Given the description of an element on the screen output the (x, y) to click on. 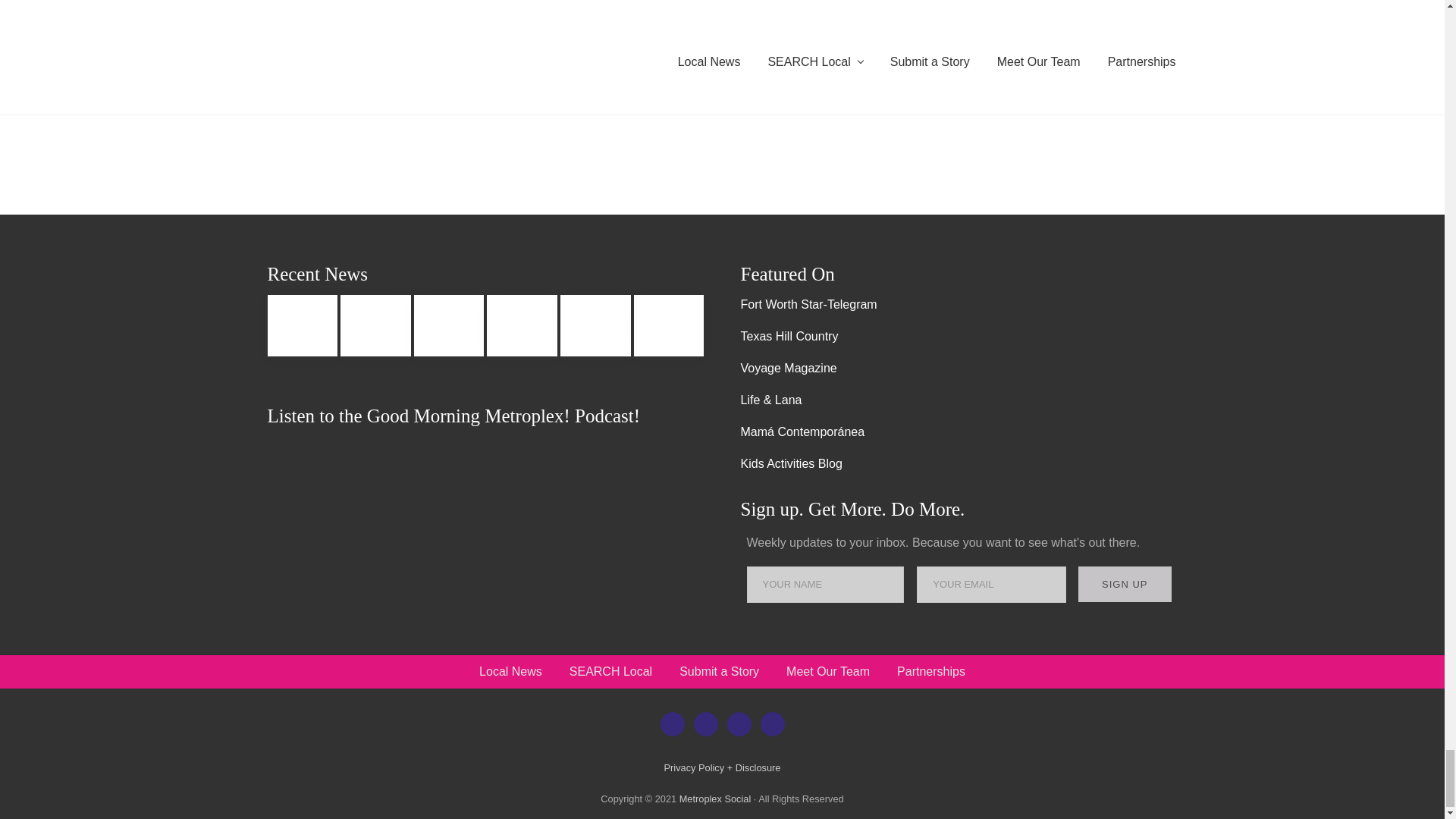
Post Comment (350, 45)
Sign up (1125, 583)
